Given the description of an element on the screen output the (x, y) to click on. 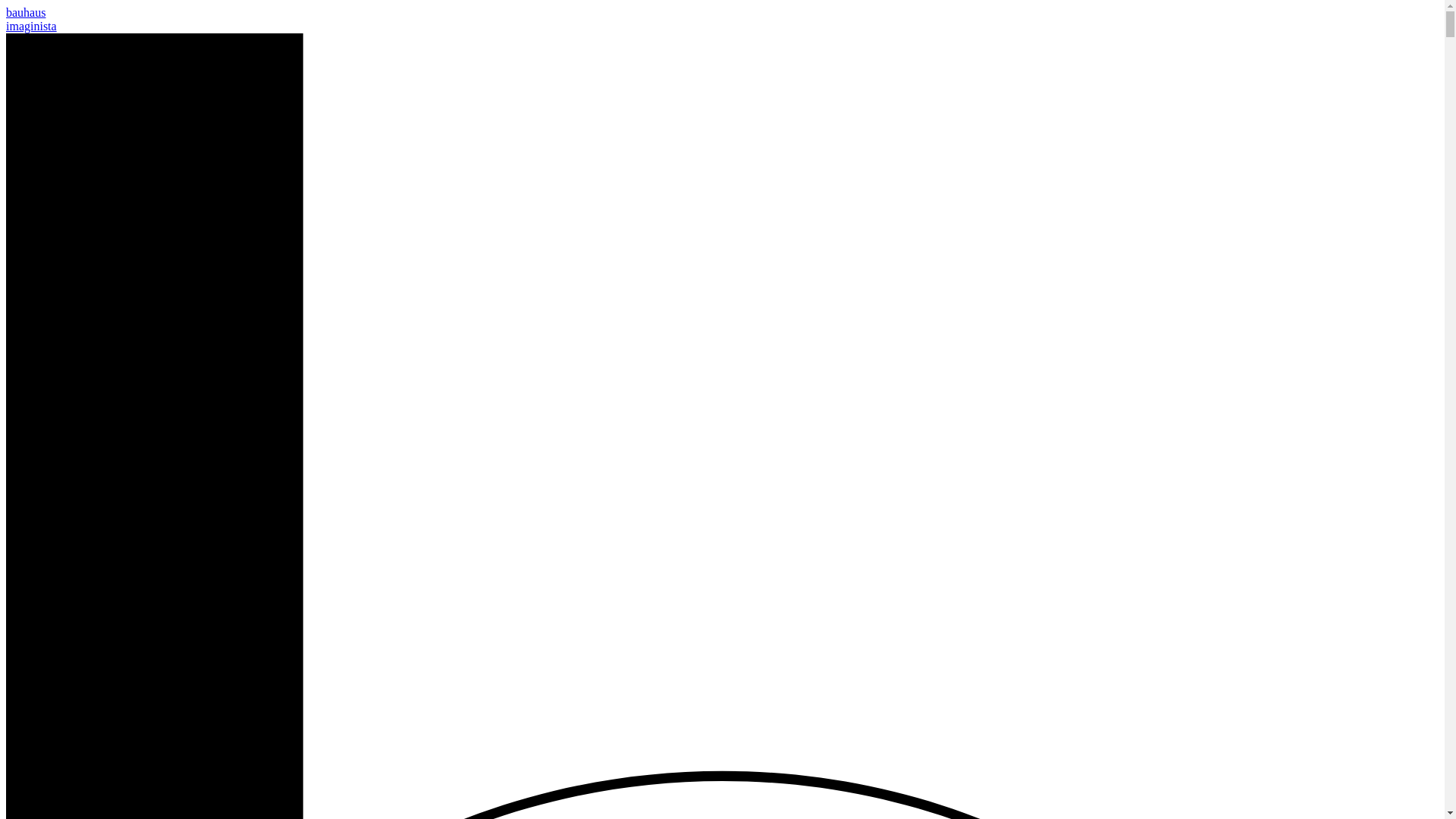
imaginista (30, 25)
bauhaus (25, 11)
